Given the description of an element on the screen output the (x, y) to click on. 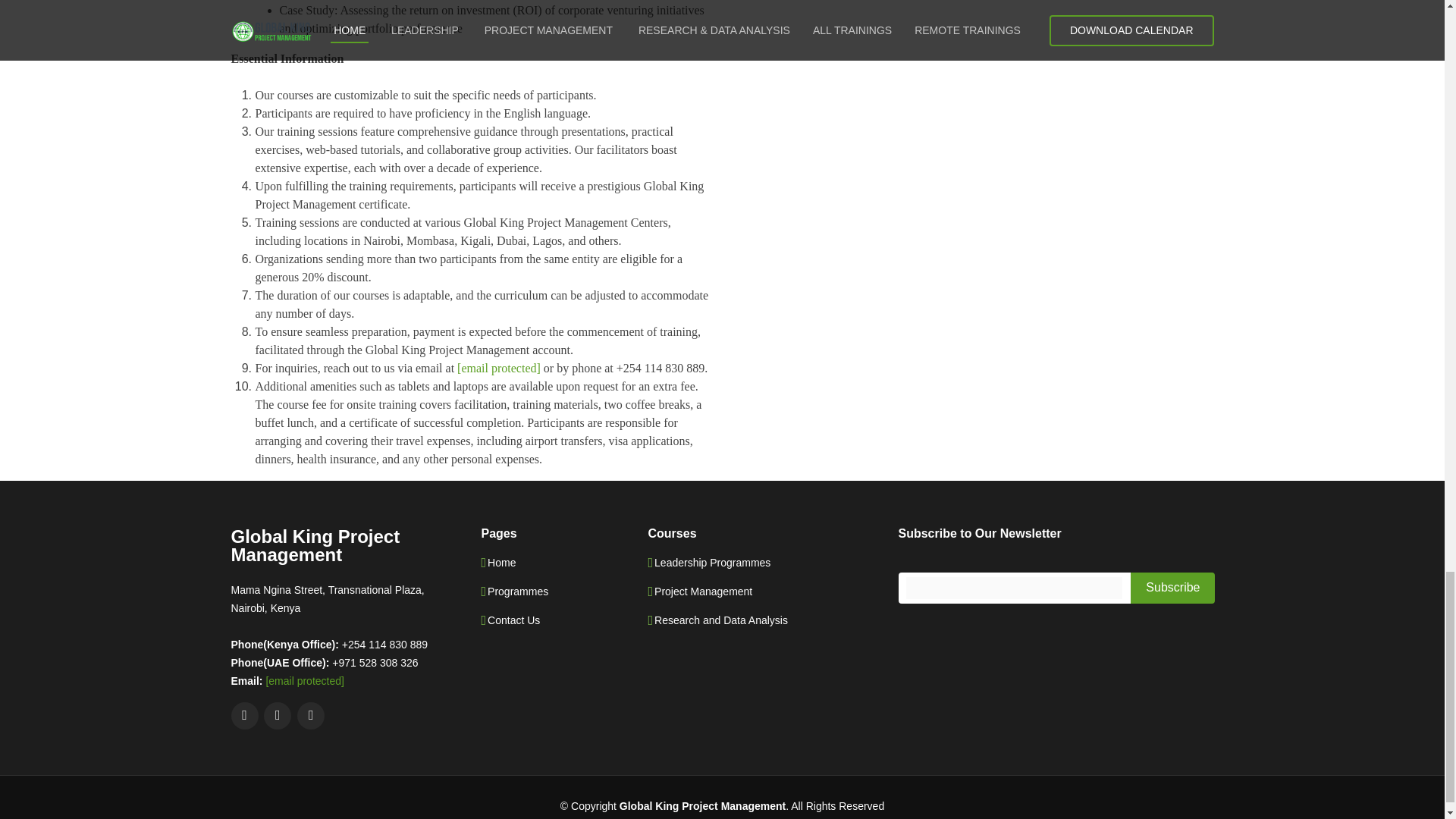
Leadership Programmes (711, 562)
Home (501, 562)
Research and Data Analysis (720, 620)
Project Management (702, 591)
Programmes (517, 591)
Contact Us (513, 620)
Subscribe (1172, 587)
Subscribe (1172, 587)
